Given the description of an element on the screen output the (x, y) to click on. 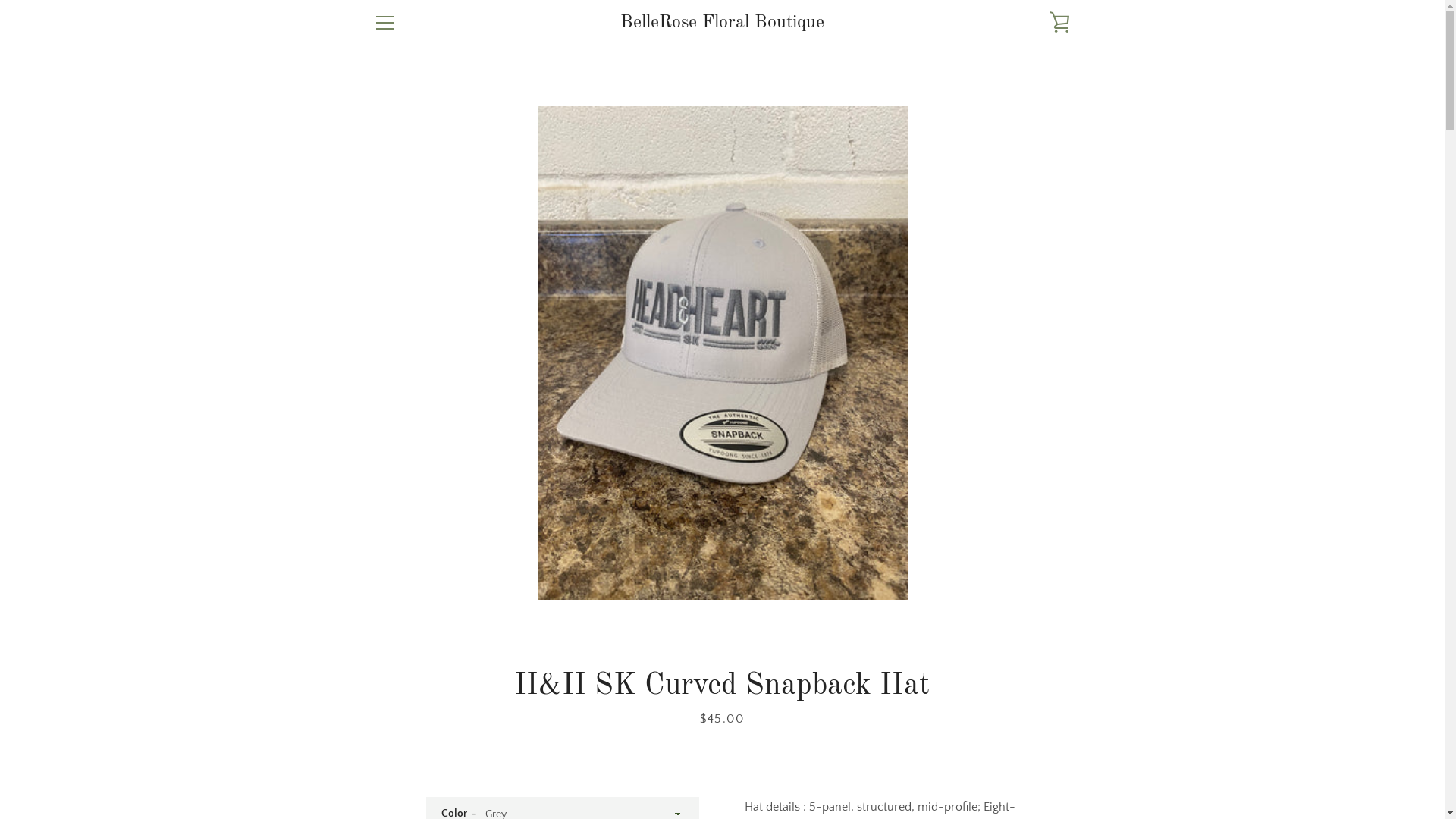
VIEW CART Element type: text (1059, 22)
BelleRose Floral Boutique Element type: text (722, 23)
MENU Element type: text (384, 22)
Skip to content Element type: text (0, 0)
